Given the description of an element on the screen output the (x, y) to click on. 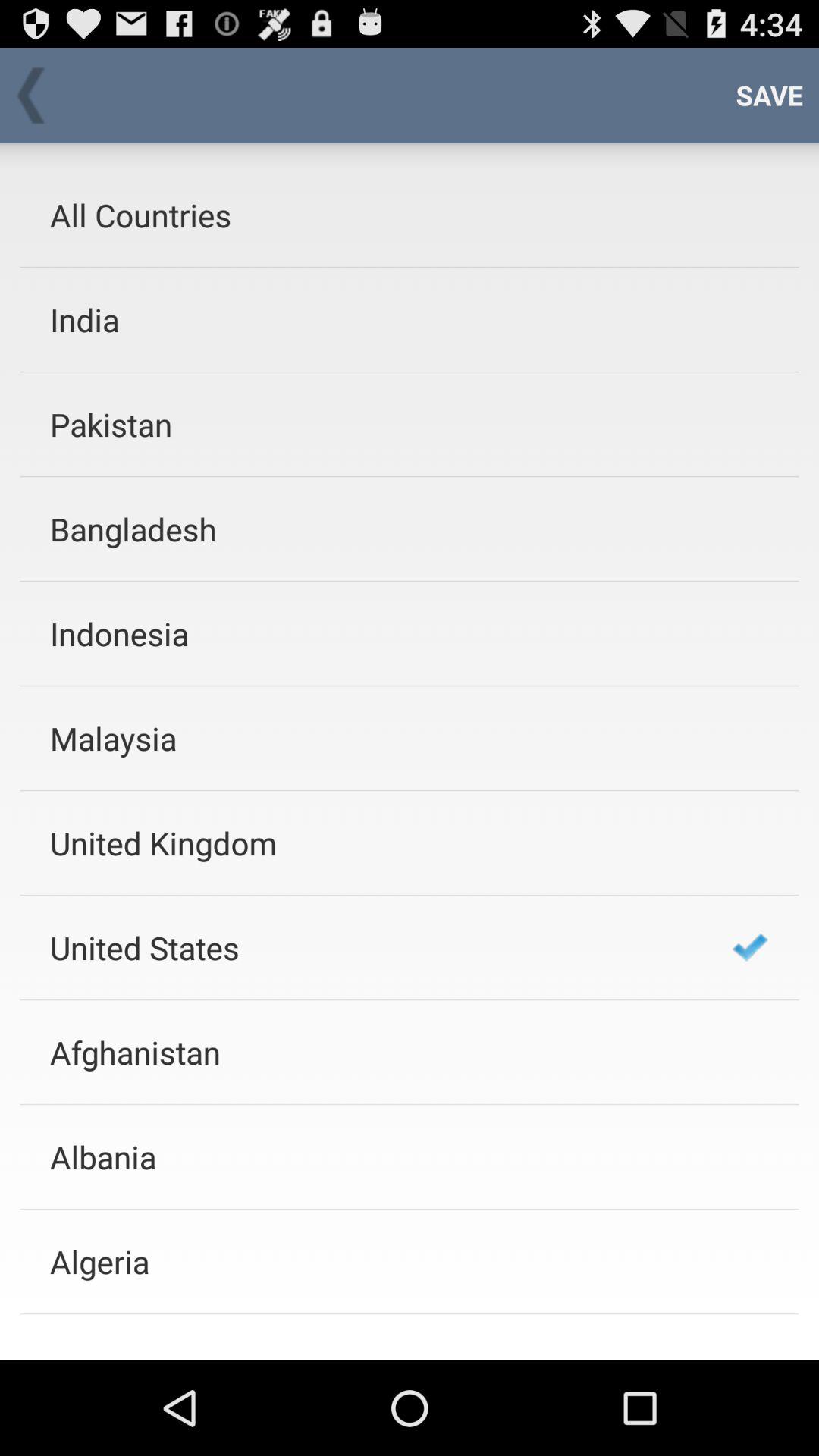
jump until the albania item (371, 1156)
